Given the description of an element on the screen output the (x, y) to click on. 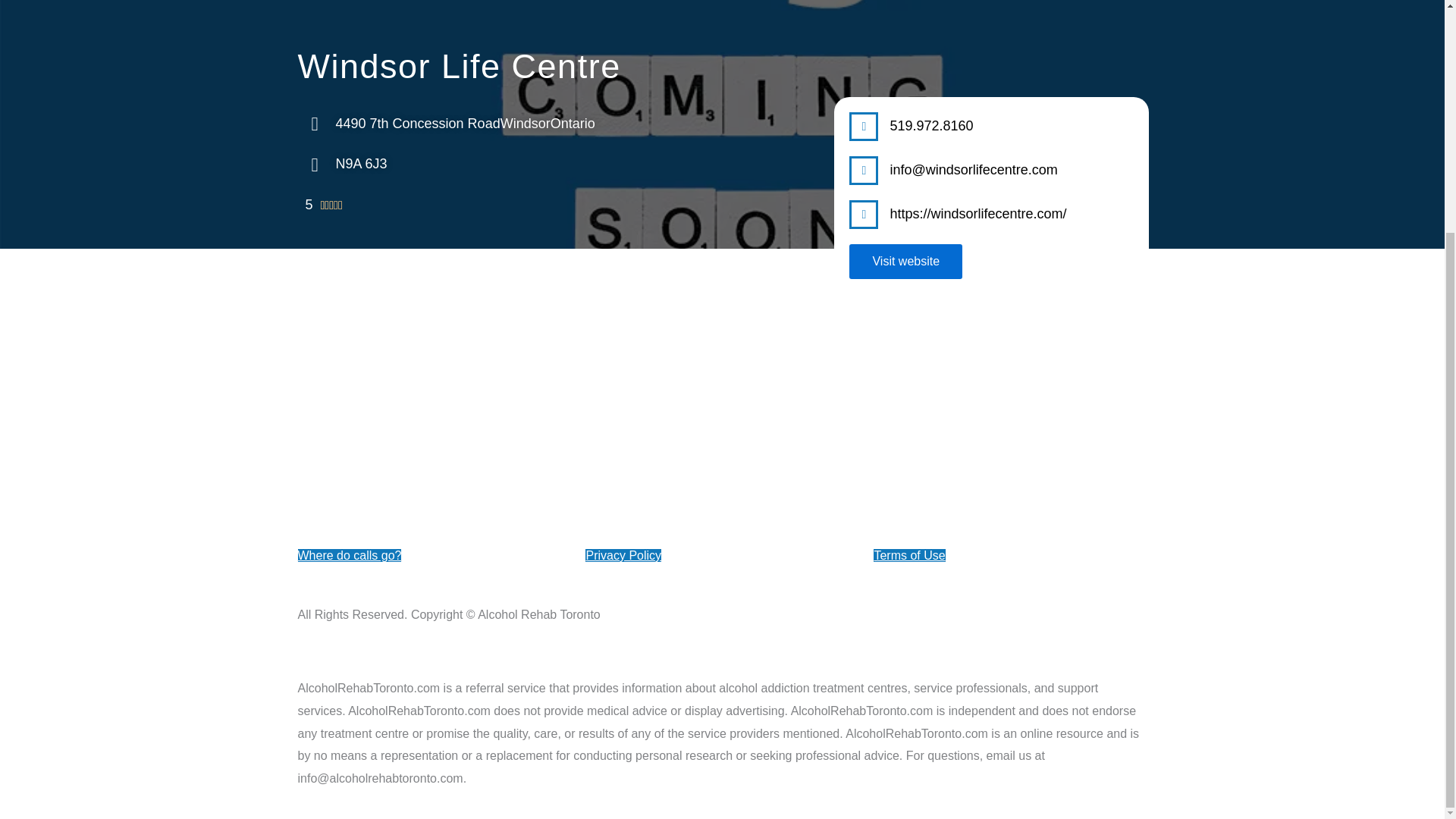
Where do calls go? (349, 554)
Privacy Policy (623, 554)
Visit website (905, 261)
